Given the description of an element on the screen output the (x, y) to click on. 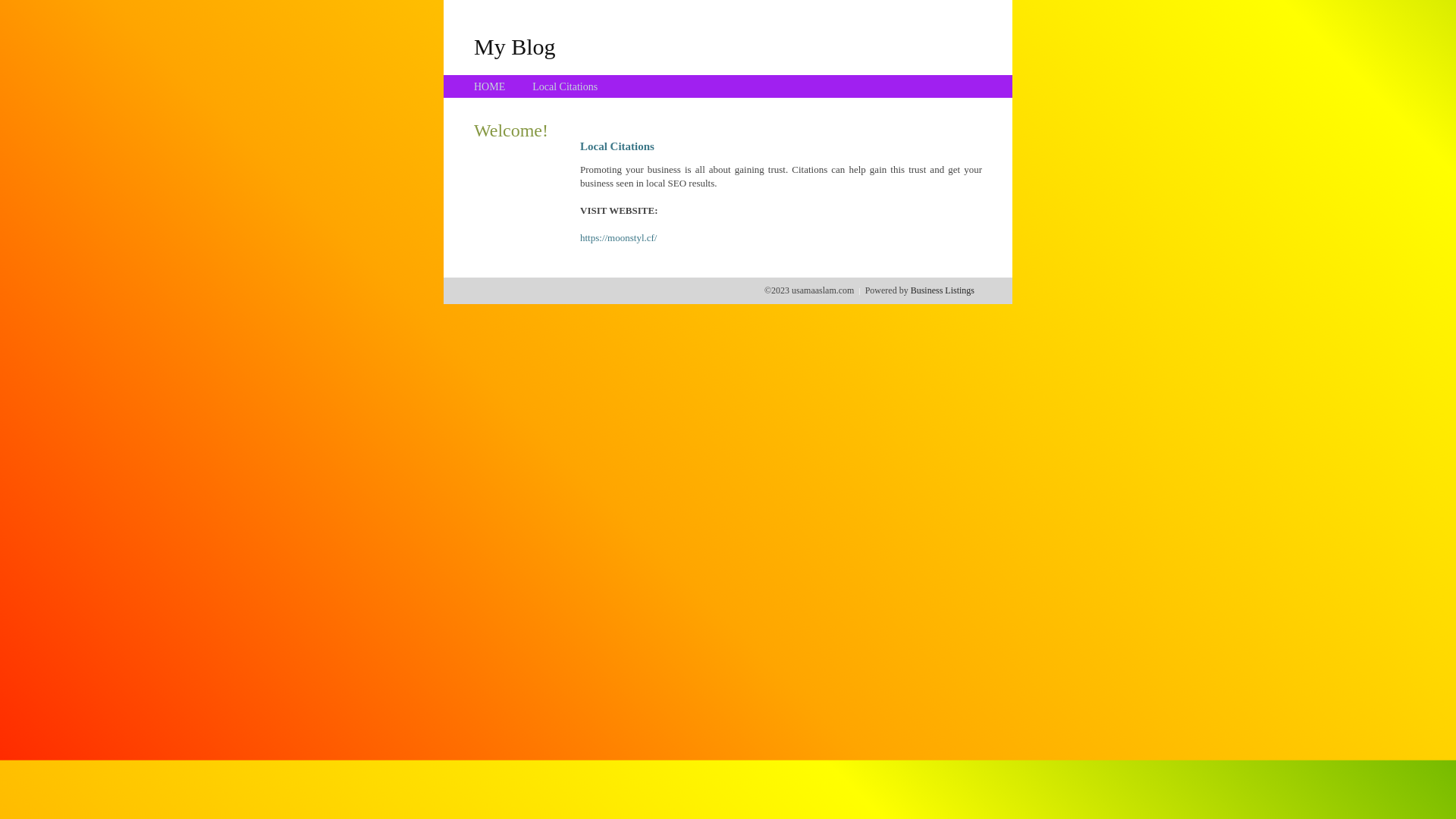
My Blog Element type: text (514, 46)
https://moonstyl.cf/ Element type: text (618, 237)
Local Citations Element type: text (564, 86)
Business Listings Element type: text (942, 290)
HOME Element type: text (489, 86)
